Given the description of an element on the screen output the (x, y) to click on. 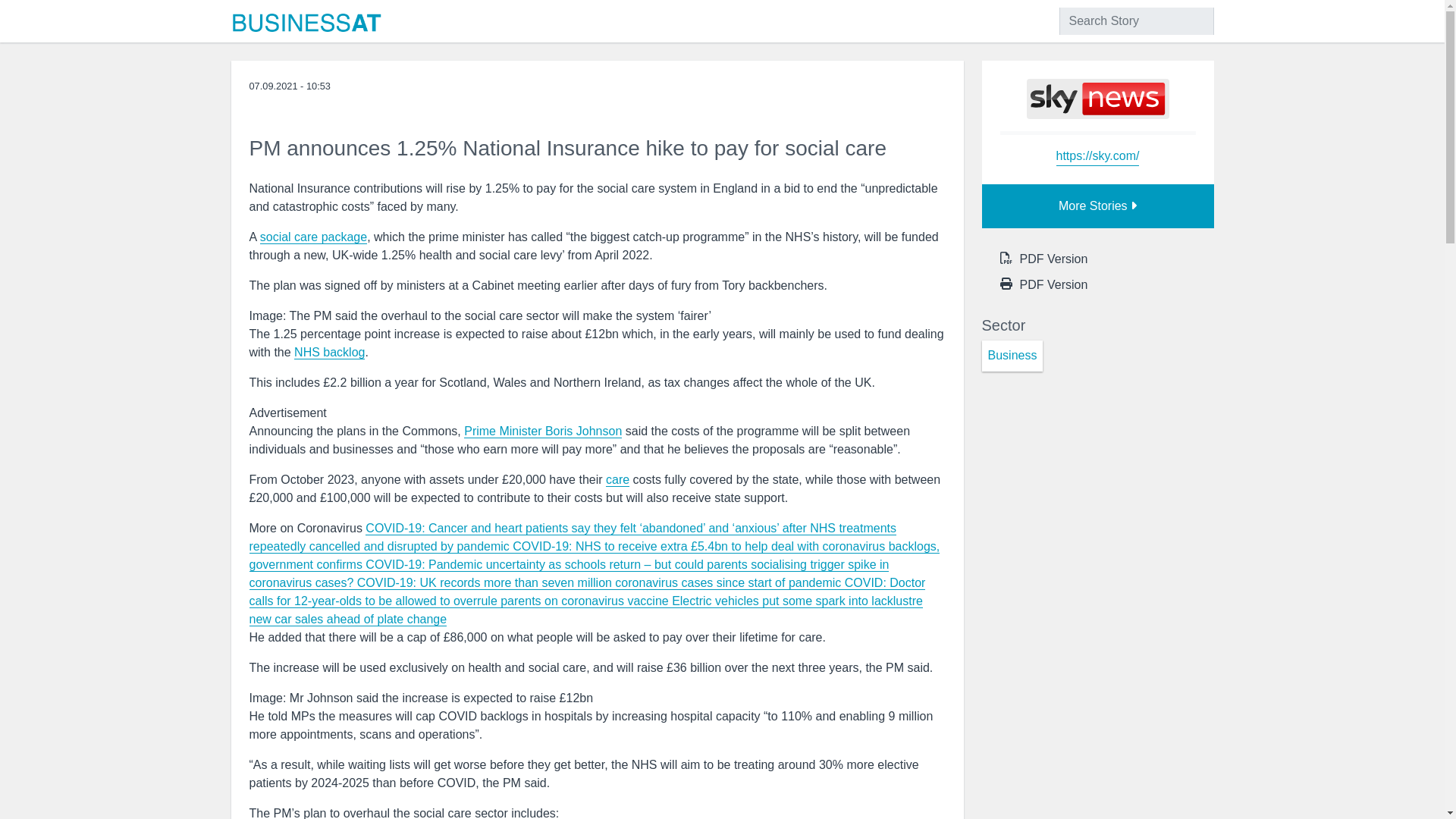
social care package (313, 237)
PDF Version (1052, 284)
NHS backlog (329, 352)
Business (1011, 355)
PDF Version (1052, 258)
More Stories (1096, 206)
Prime Minister Boris Johnson (542, 431)
care (616, 479)
